Given the description of an element on the screen output the (x, y) to click on. 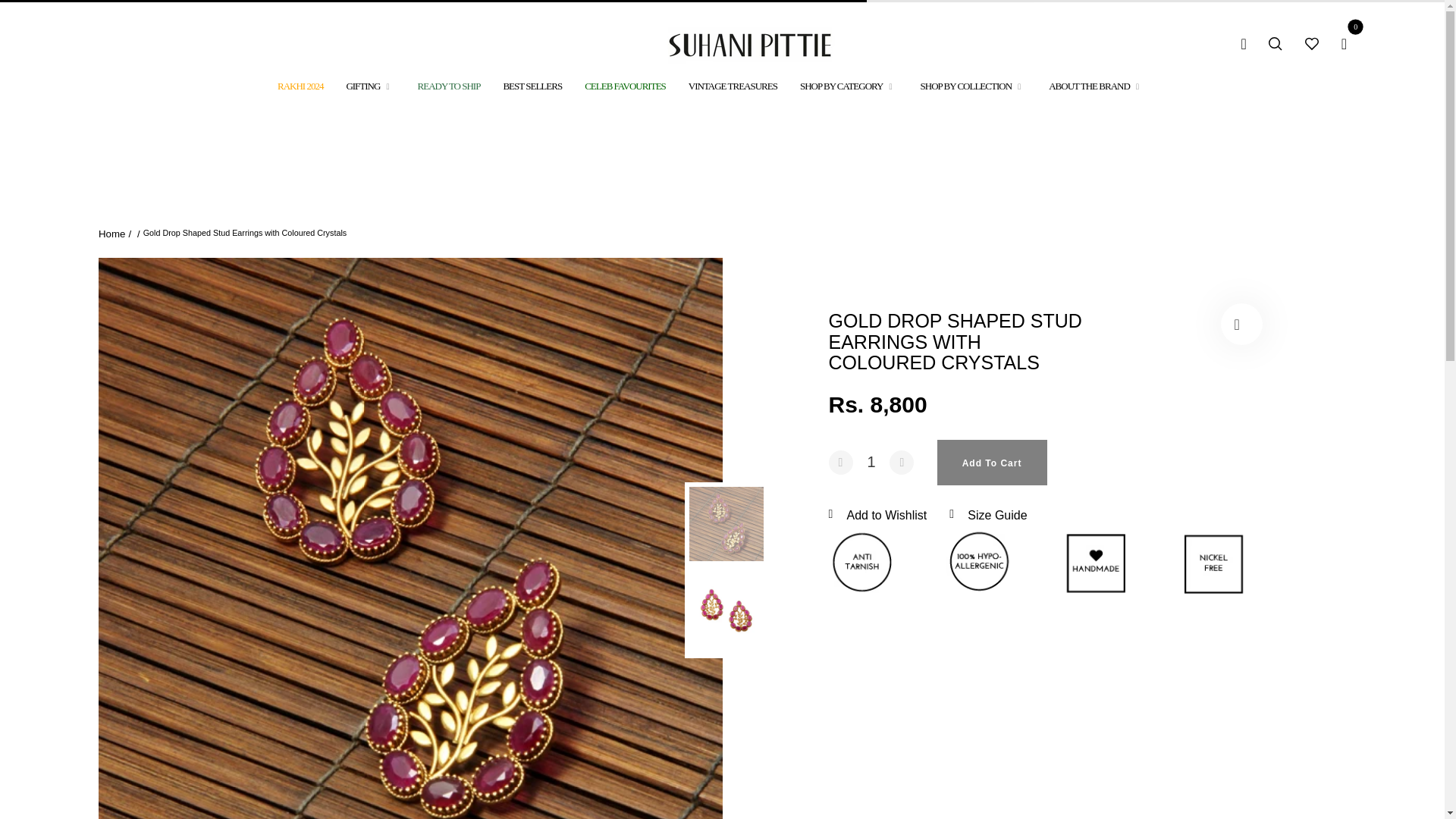
SHOP BY COLLECTION (973, 86)
GIFTING (370, 86)
BEST SELLERS (532, 86)
1 (871, 461)
SHOP BY CATEGORY (848, 86)
RAKHI 2024 (300, 86)
READY TO SHIP (448, 86)
CELEB FAVOURITES (625, 86)
VINTAGE TREASURES (732, 86)
